Given the description of an element on the screen output the (x, y) to click on. 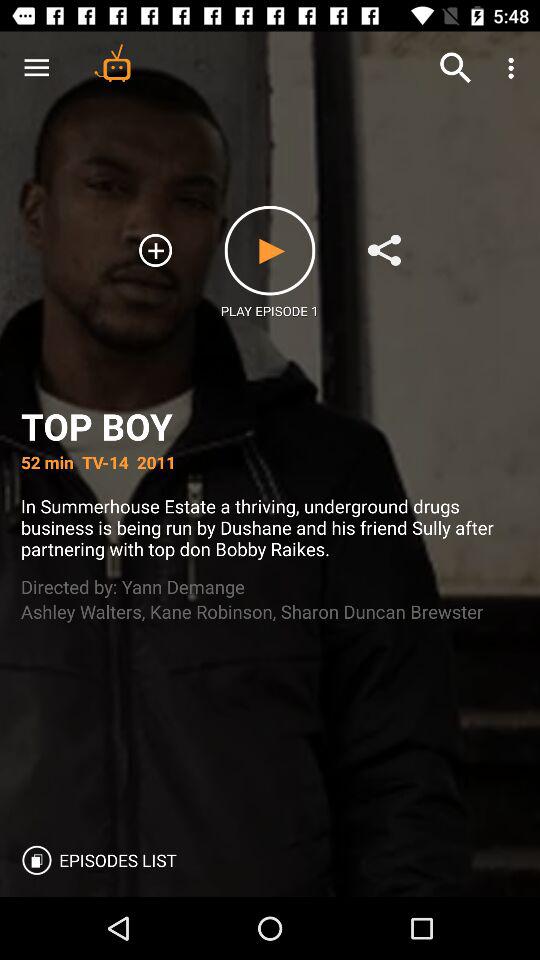
play button (269, 250)
